Given the description of an element on the screen output the (x, y) to click on. 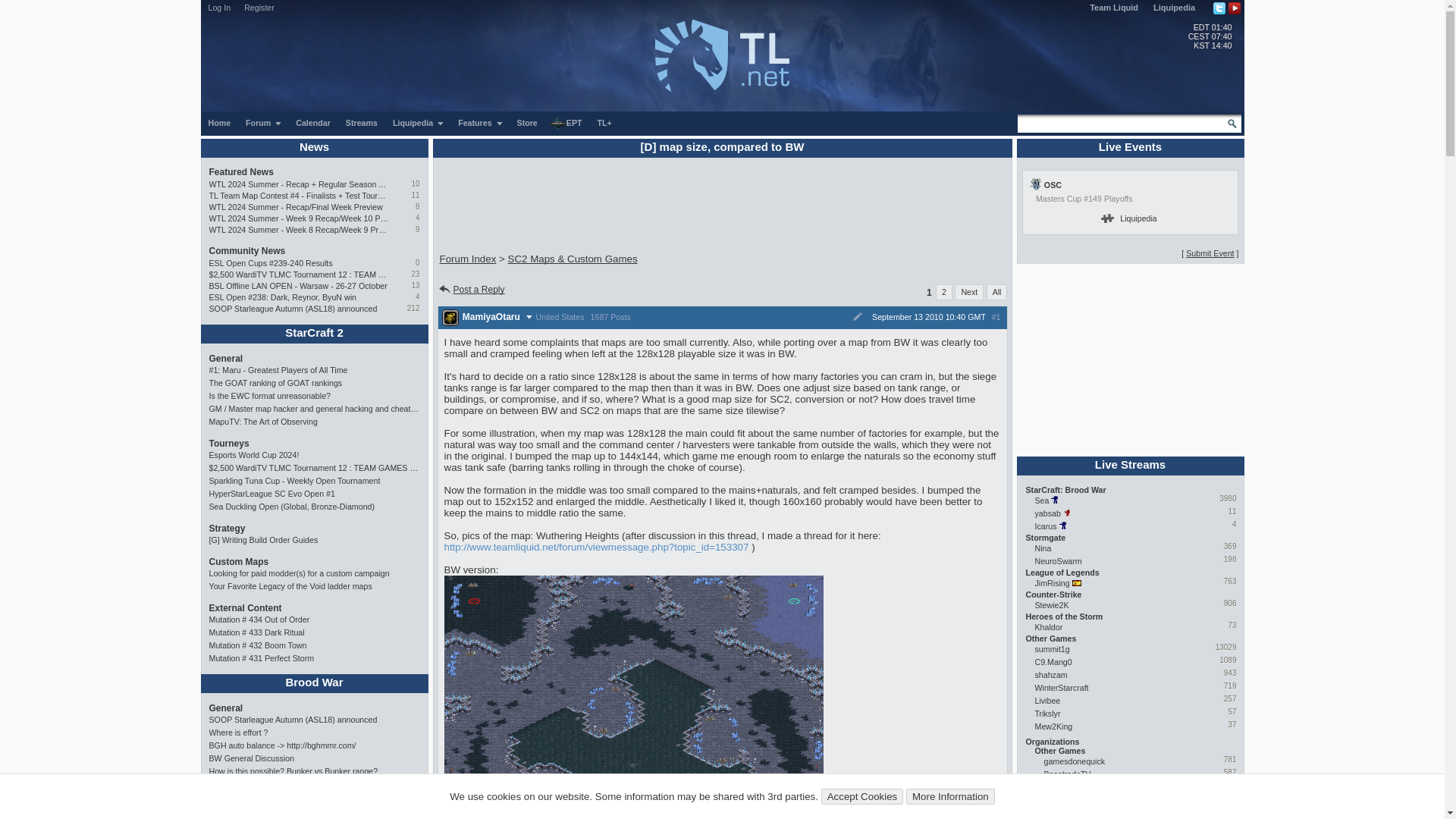
EPT (566, 122)
BSL Offline LAN OPEN - Warsaw - 26-27 October (299, 285)
Home (219, 122)
Calendar (312, 122)
Streams (361, 122)
How is this possible? Bunker vs Bunker range? (314, 771)
Search (1232, 123)
Register (259, 7)
Liquipedia (1174, 7)
11 (414, 194)
